Given the description of an element on the screen output the (x, y) to click on. 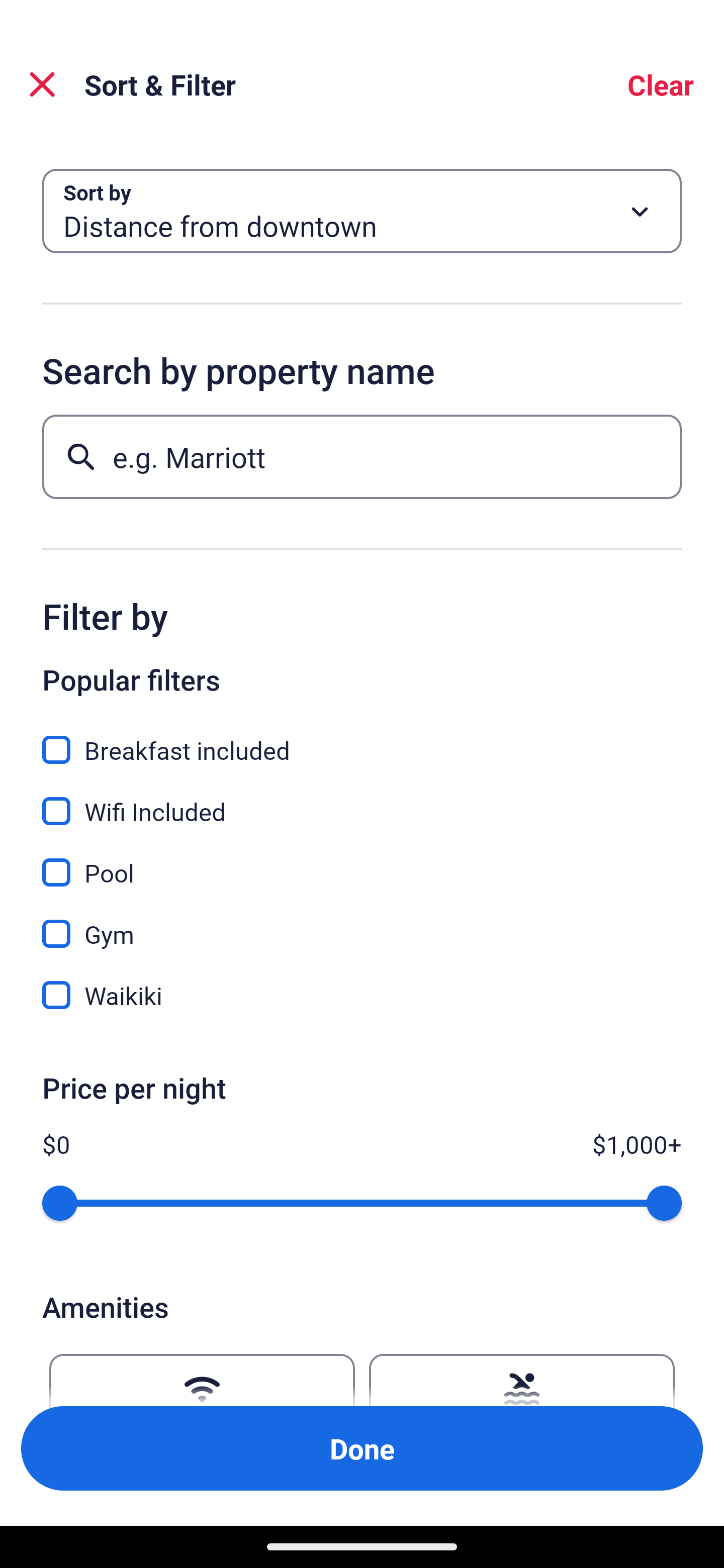
Close Sort and Filter (42, 84)
Clear (660, 84)
Sort by Button Distance from downtown (361, 211)
e.g. Marriott Button (361, 455)
Breakfast included, Breakfast included (361, 738)
Wifi Included, Wifi Included (361, 800)
Pool, Pool (361, 861)
Gym, Gym (361, 922)
Waikiki, Waikiki (361, 995)
Apply and close Sort and Filter Done (361, 1448)
